Given the description of an element on the screen output the (x, y) to click on. 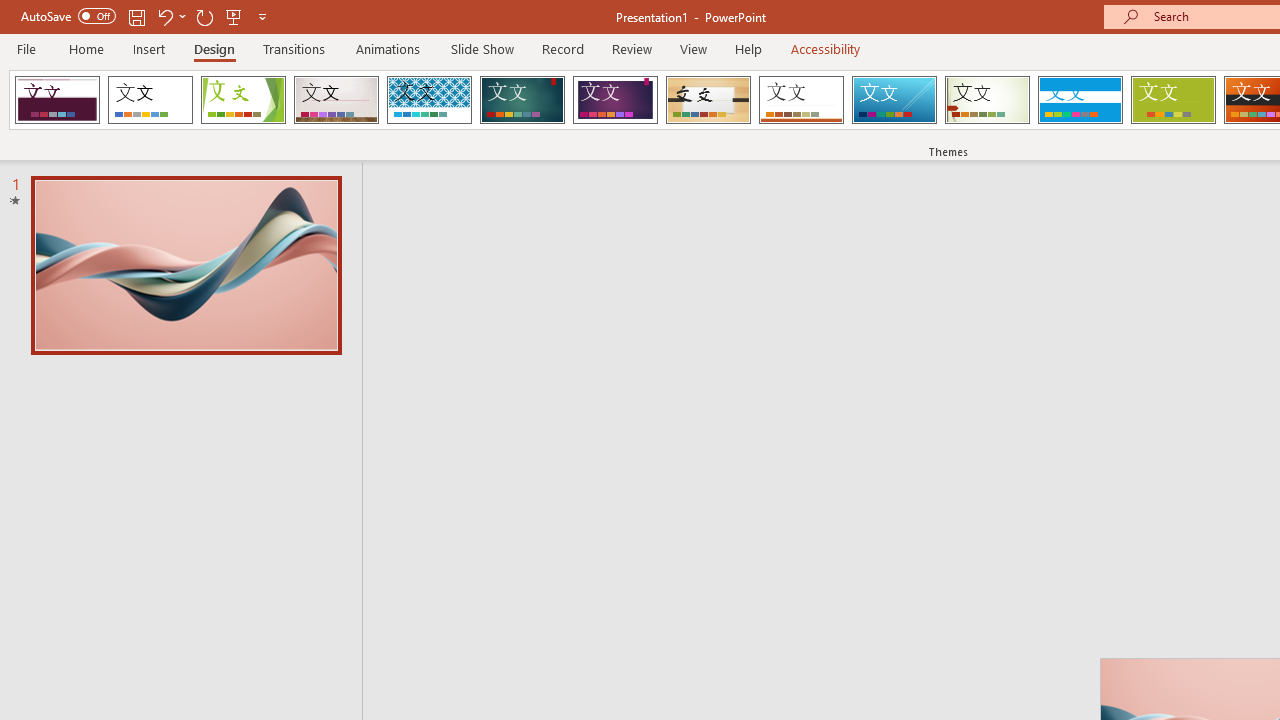
Integral (429, 100)
Retrospect (801, 100)
Organic (708, 100)
Facet (243, 100)
